Given the description of an element on the screen output the (x, y) to click on. 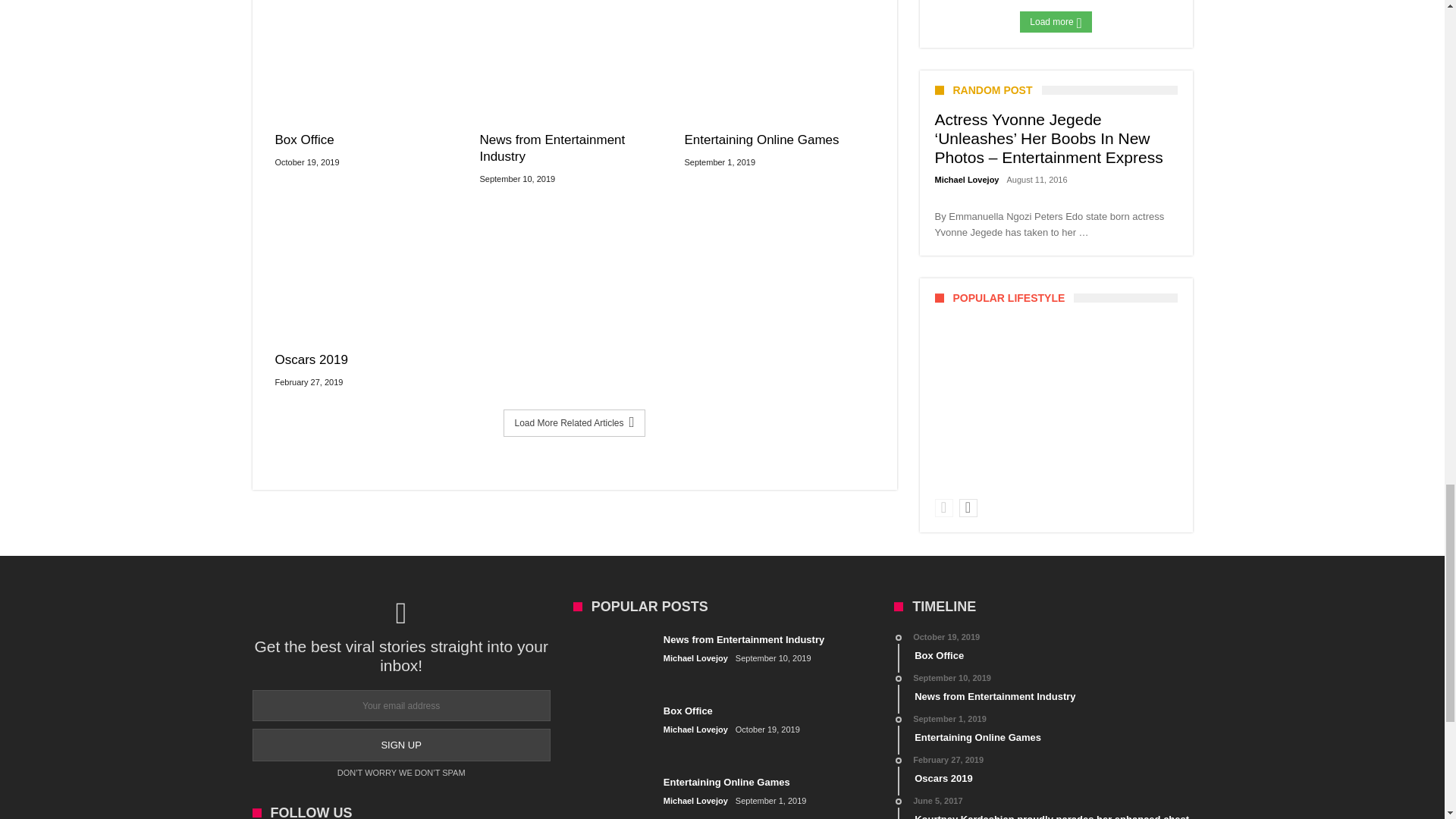
Posts by Michael Lovejoy (695, 658)
Posts by Michael Lovejoy (695, 729)
Sign up (400, 744)
Posts by Michael Lovejoy (695, 800)
Posts by Michael Lovejoy (966, 179)
